Given the description of an element on the screen output the (x, y) to click on. 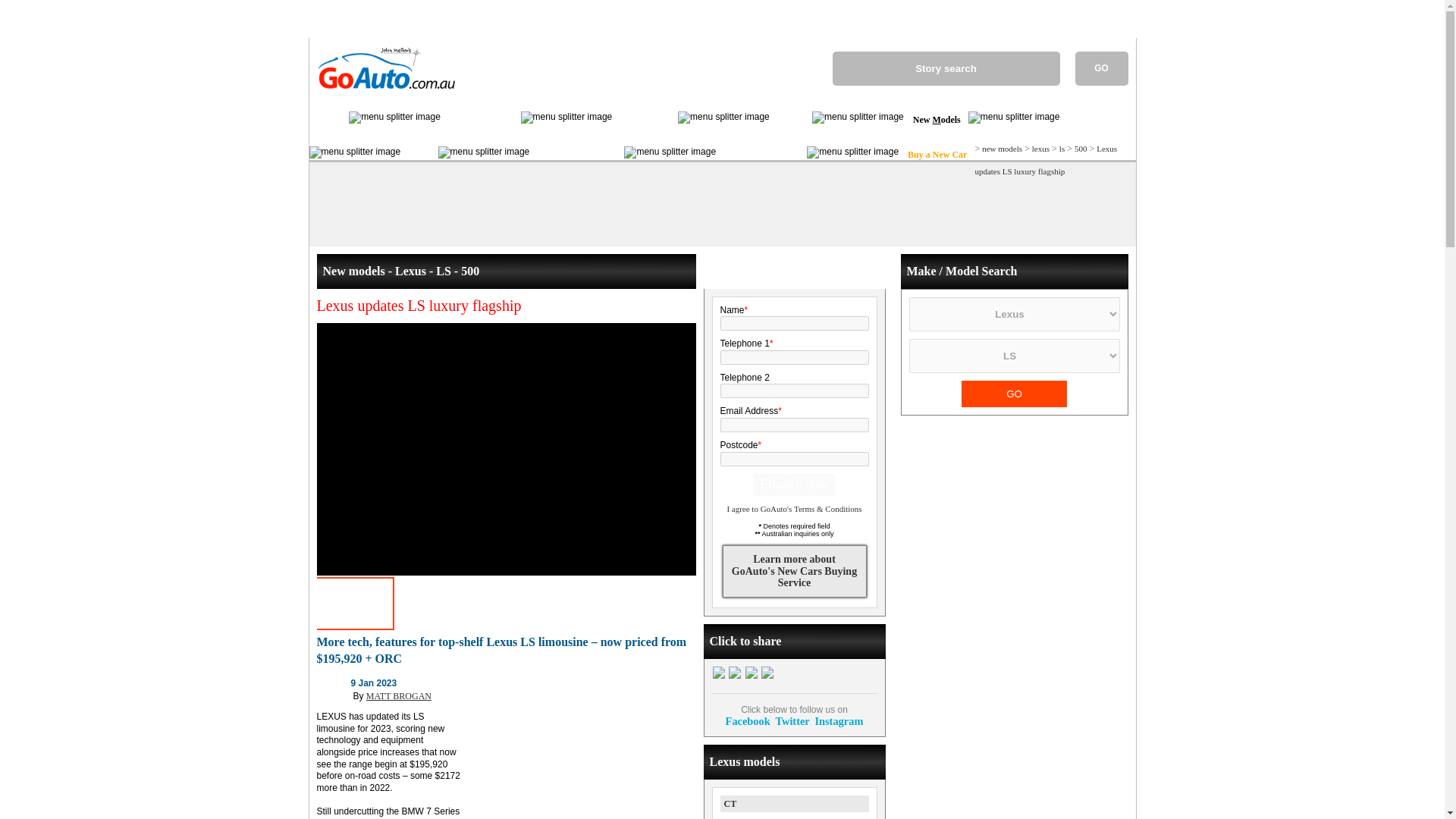
Latest Coverage (481, 119)
lexus logo (333, 692)
Home (328, 119)
Car Videos - Check out the latest New Car Videos (791, 119)
Find all the articles on a particular model in two clicks (576, 154)
MATT BROGAN (398, 696)
News (419, 154)
Make Model Search (576, 154)
